Given the description of an element on the screen output the (x, y) to click on. 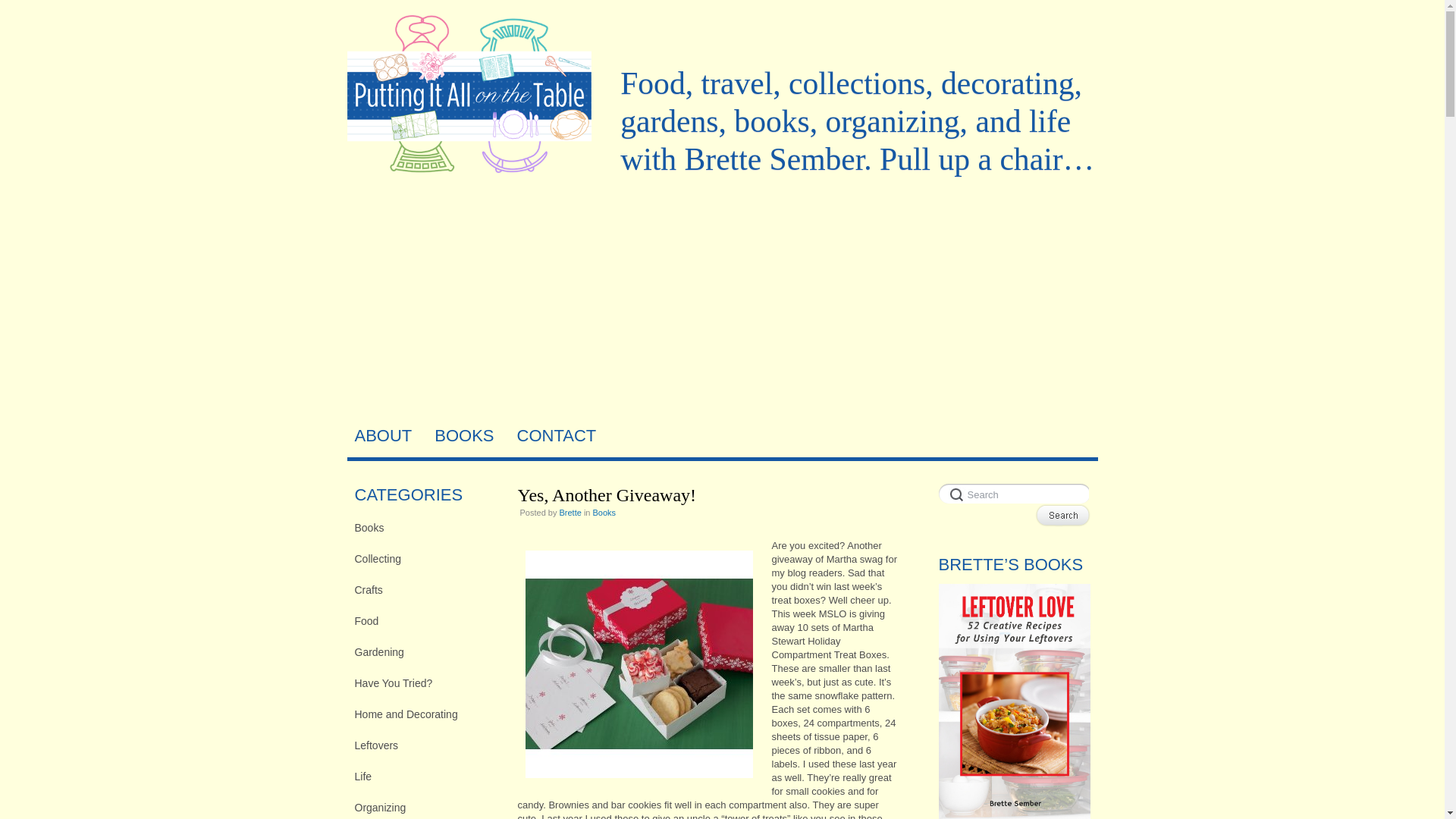
Search (1061, 515)
Crafts (425, 589)
Life (425, 776)
Leftovers (425, 745)
Food (425, 620)
Books (603, 511)
Brette (569, 511)
treat boxes compartment (638, 663)
BOOKS (463, 435)
Collecting (425, 558)
Home and Decorating (425, 713)
View all posts by Brette (569, 511)
ABOUT (383, 435)
Search (1014, 495)
Organizing (425, 807)
